Given the description of an element on the screen output the (x, y) to click on. 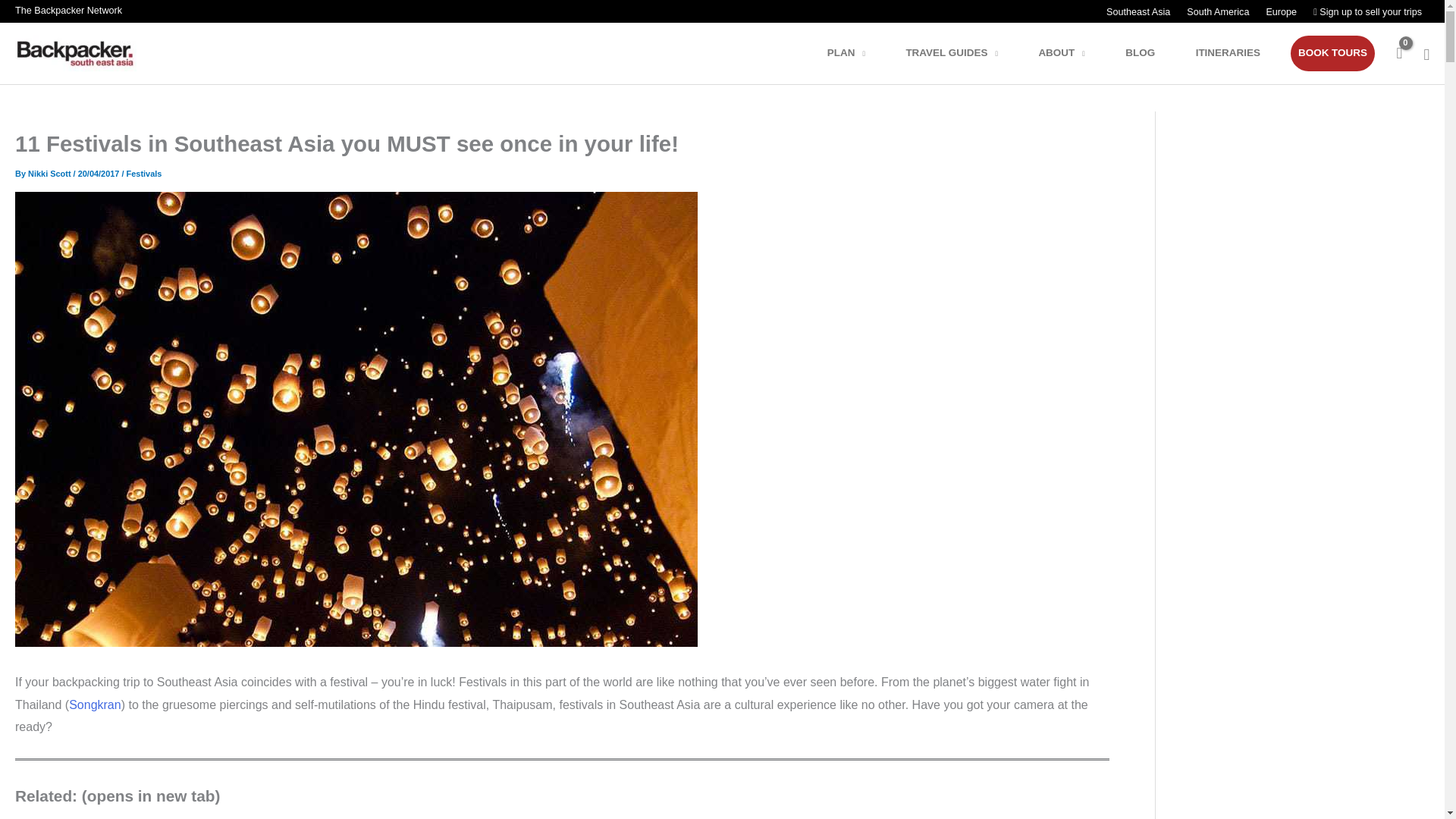
ABOUT (1071, 53)
ITINERARIES (1237, 53)
View all posts by Nikki Scott (50, 173)
TRAVEL GUIDES (961, 53)
BLOG (1150, 53)
South America (1216, 12)
PLAN (855, 53)
Southeast Asia (1137, 12)
BOOK TOURS (1332, 53)
Europe (1280, 12)
